Given the description of an element on the screen output the (x, y) to click on. 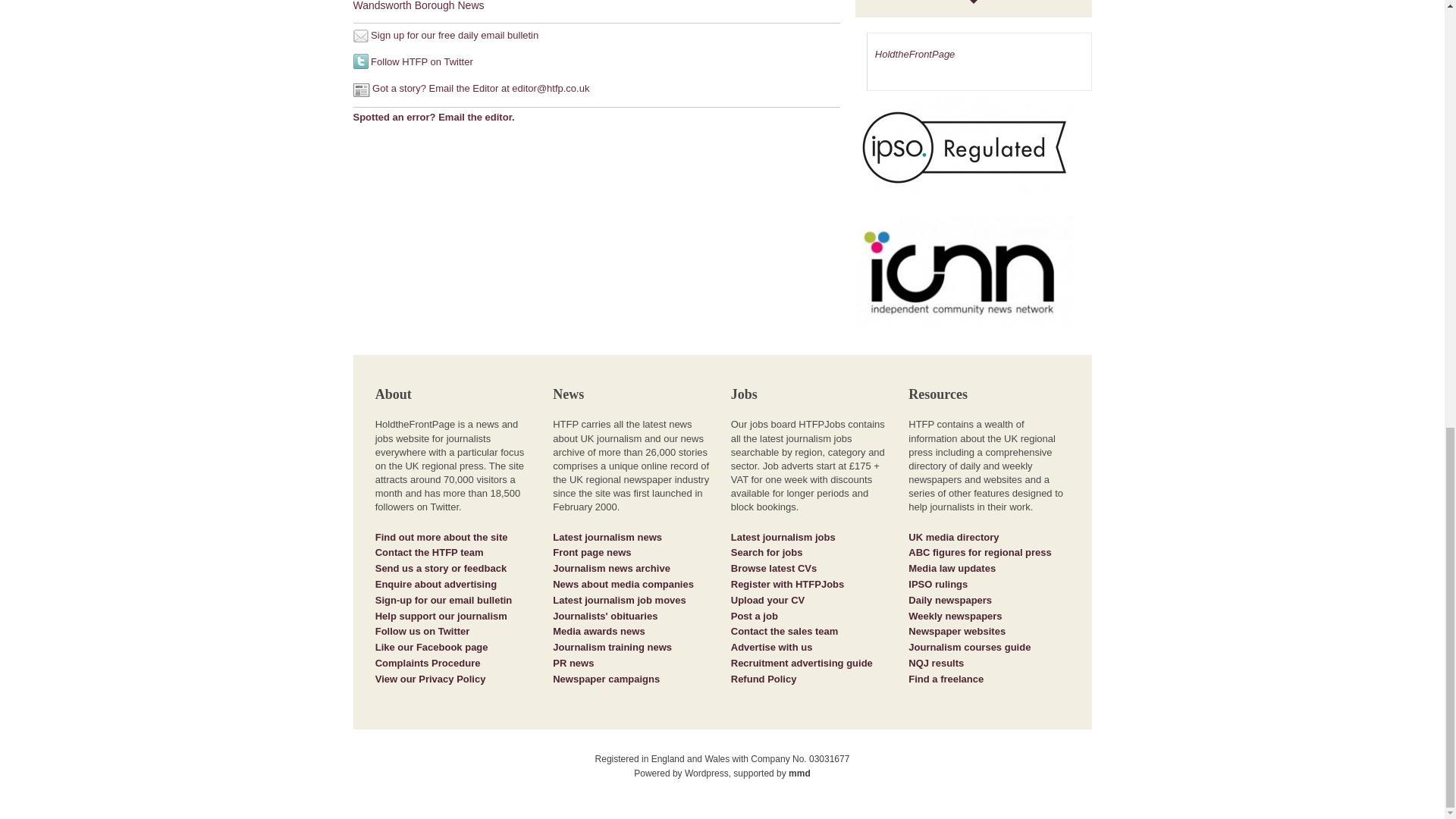
Find out more about the site (441, 536)
Send us a story or feedback (440, 568)
Independent Press Standards Organisation (965, 146)
Sign-up for our email bulletin (443, 600)
Contact the HTFP team (429, 552)
Donations page (440, 615)
Independent Press Standards Organisation (974, 153)
Enquire about advertising with us (435, 583)
Independent Community News Network (965, 270)
Independent Community News Network (974, 277)
